Given the description of an element on the screen output the (x, y) to click on. 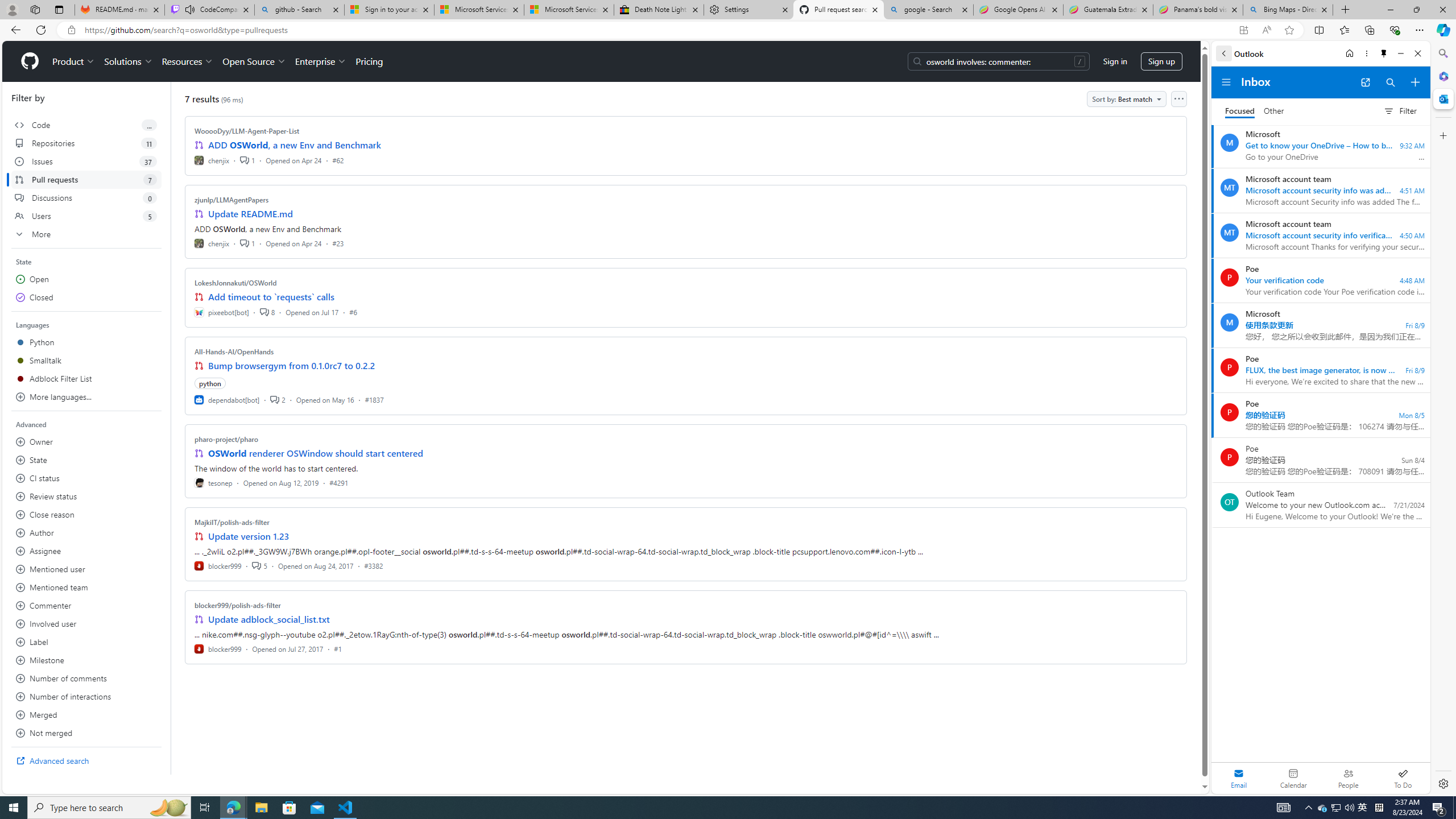
Update adblock_social_list.txt (269, 619)
Focused (1239, 110)
#1837 (374, 398)
Solutions (128, 60)
#3382 (373, 565)
Compose new mail (1414, 82)
Filter (1399, 110)
Google Opens AI Academy for Startups - Nearshore Americas (1018, 9)
